Given the description of an element on the screen output the (x, y) to click on. 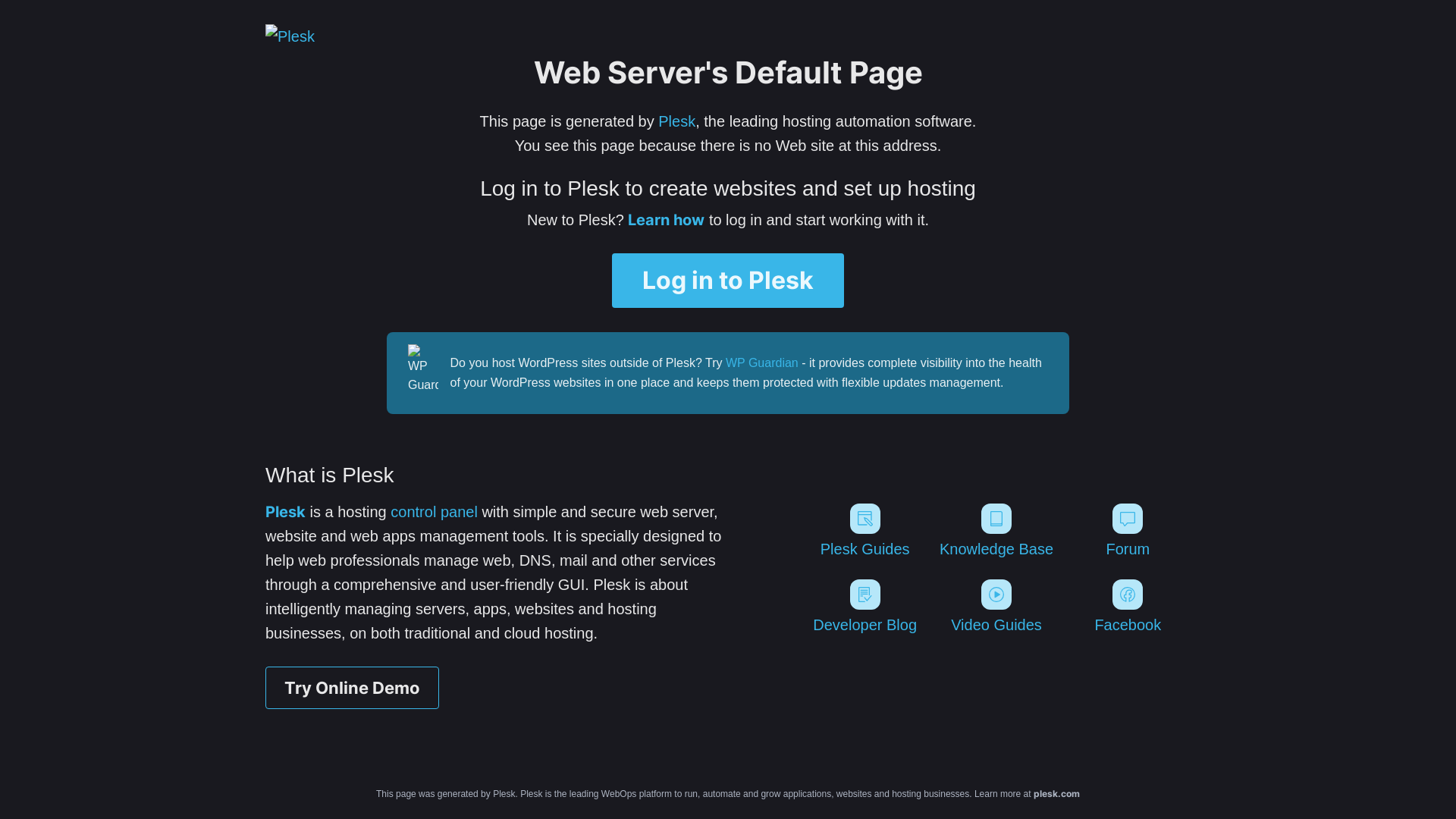
Plesk Guides Element type: text (864, 530)
Plesk Element type: text (676, 120)
Developer Blog Element type: text (864, 606)
Video Guides Element type: text (995, 606)
WP Guardian Element type: text (761, 362)
Knowledge Base Element type: text (995, 530)
Plesk Element type: text (285, 511)
Learn how Element type: text (665, 219)
plesk.com Element type: text (1056, 793)
control panel Element type: text (433, 511)
Forum Element type: text (1127, 530)
Facebook Element type: text (1127, 606)
Log in to Plesk Element type: text (727, 280)
Try Online Demo Element type: text (352, 687)
